Given the description of an element on the screen output the (x, y) to click on. 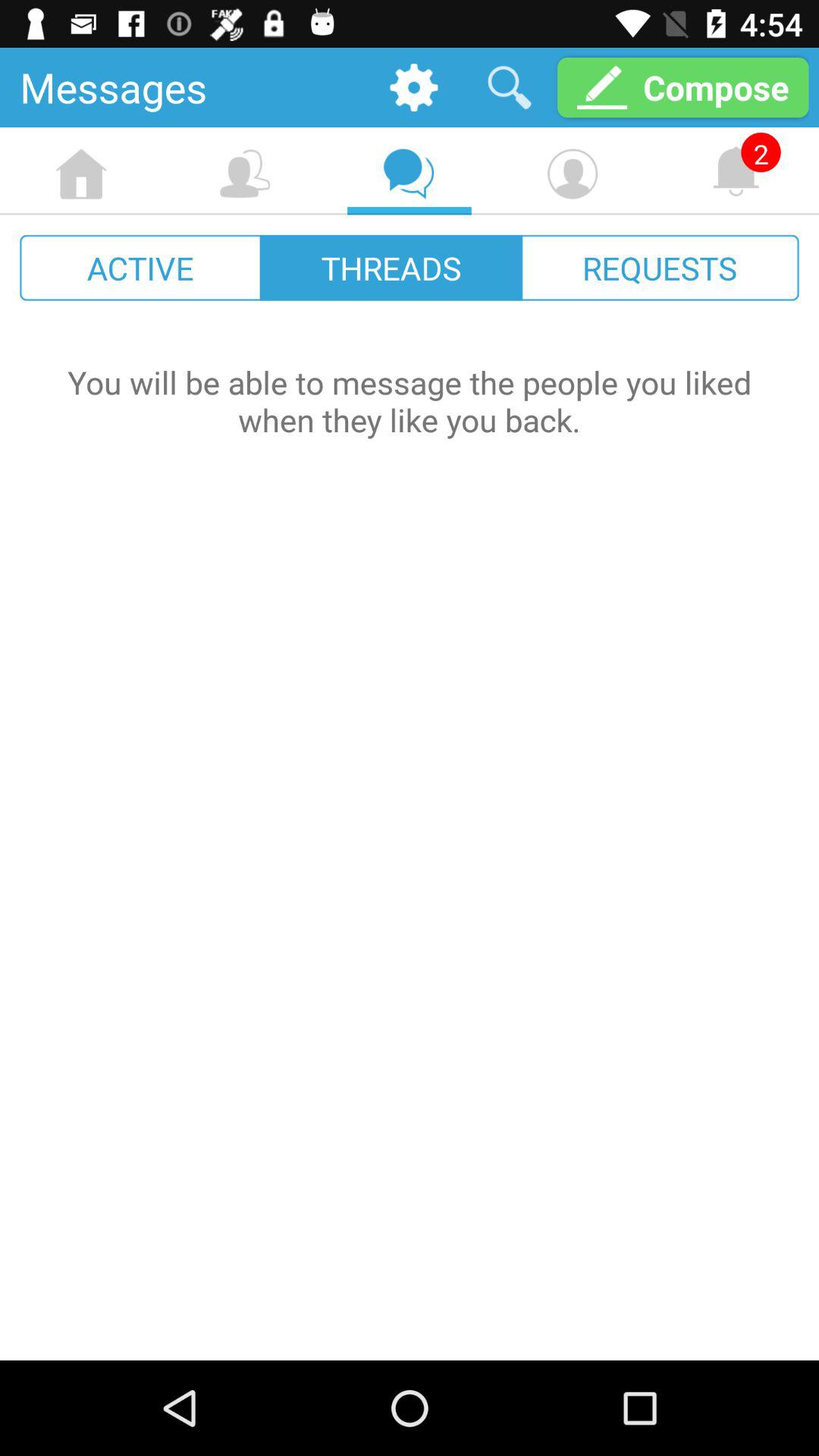
turn on the active (140, 267)
